Given the description of an element on the screen output the (x, y) to click on. 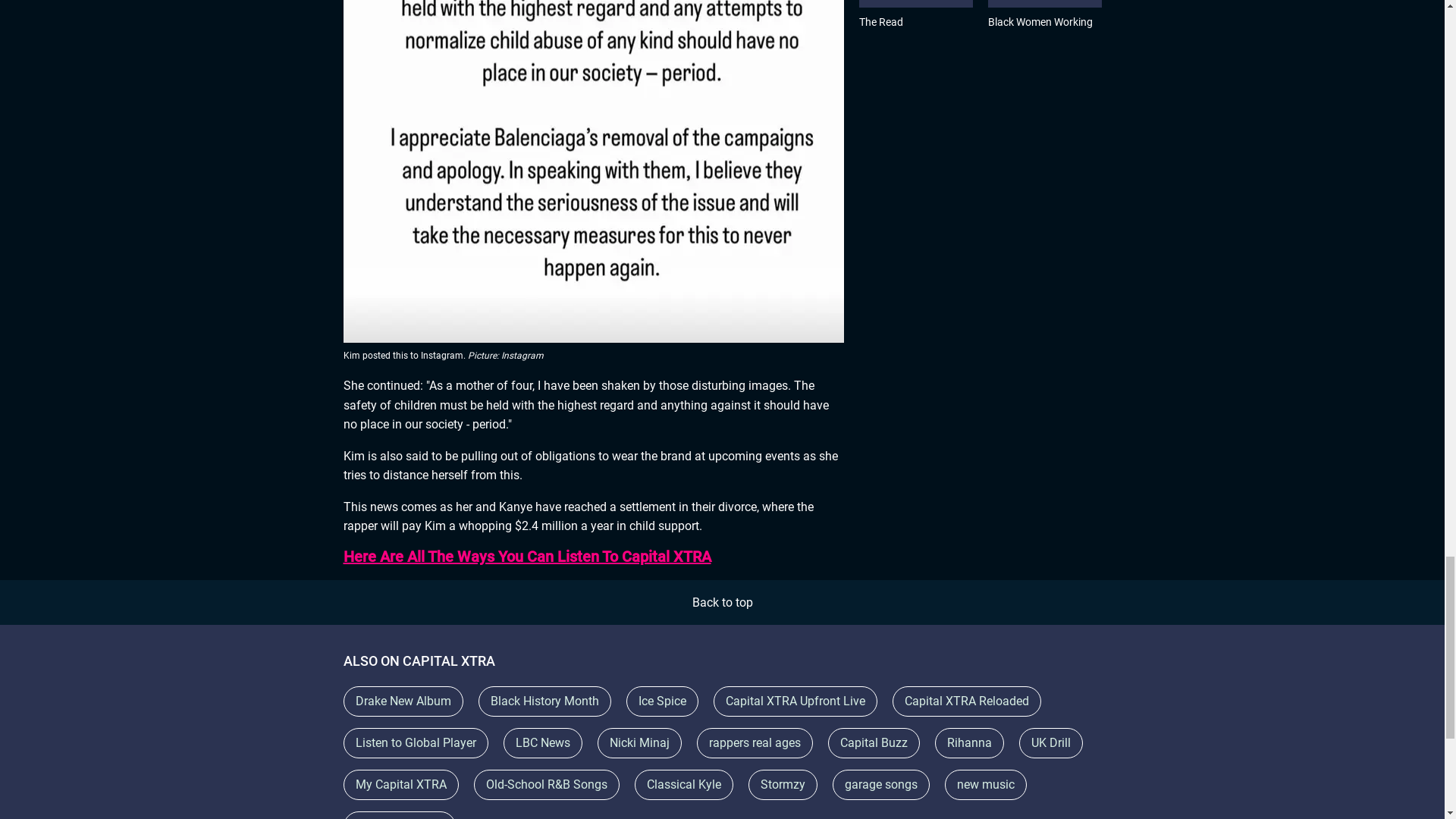
Back to top (721, 602)
